Given the description of an element on the screen output the (x, y) to click on. 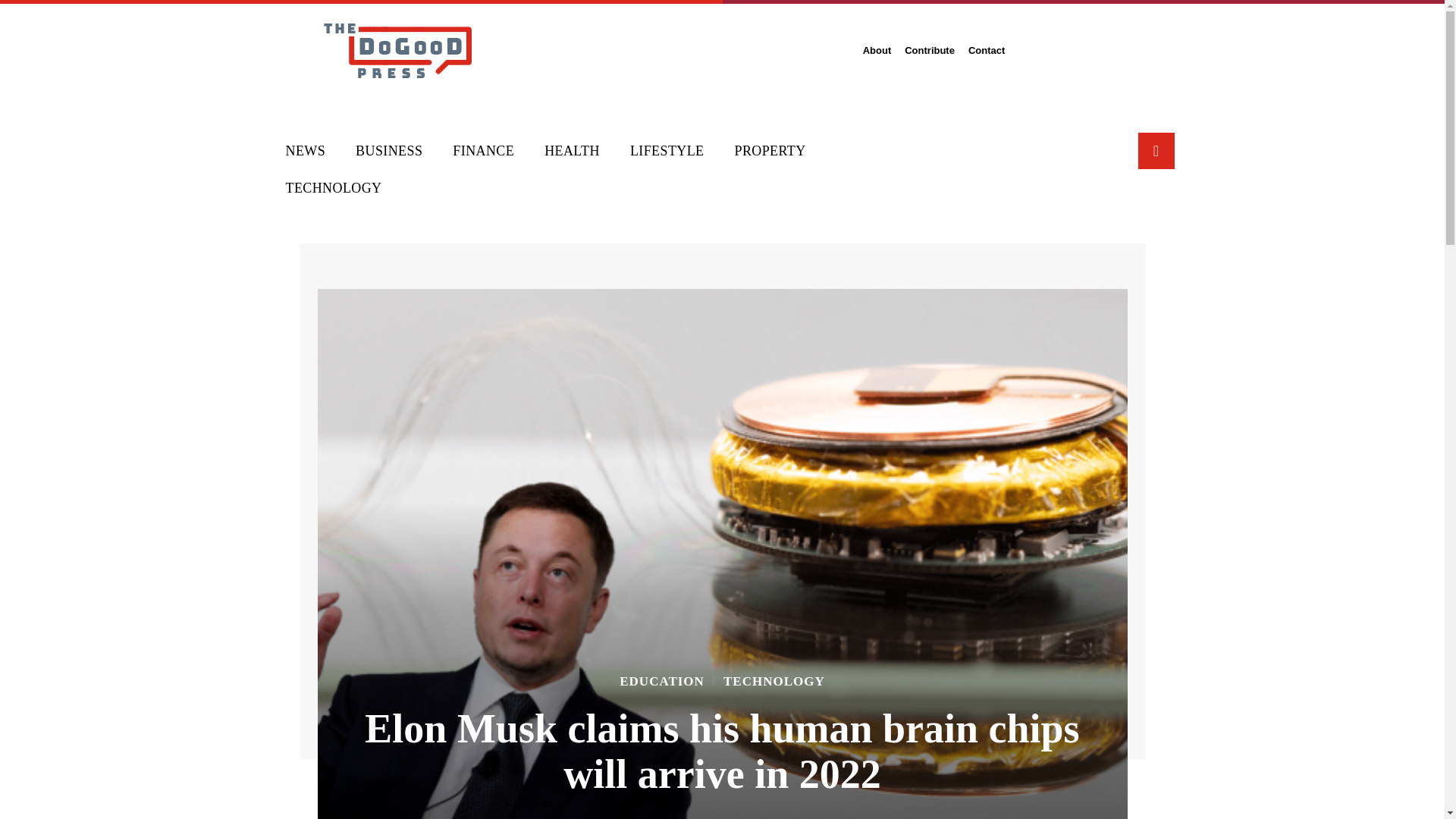
NEWS (304, 150)
Contact (985, 50)
About (877, 50)
BUSINESS (389, 150)
Contribute (929, 50)
